Given the description of an element on the screen output the (x, y) to click on. 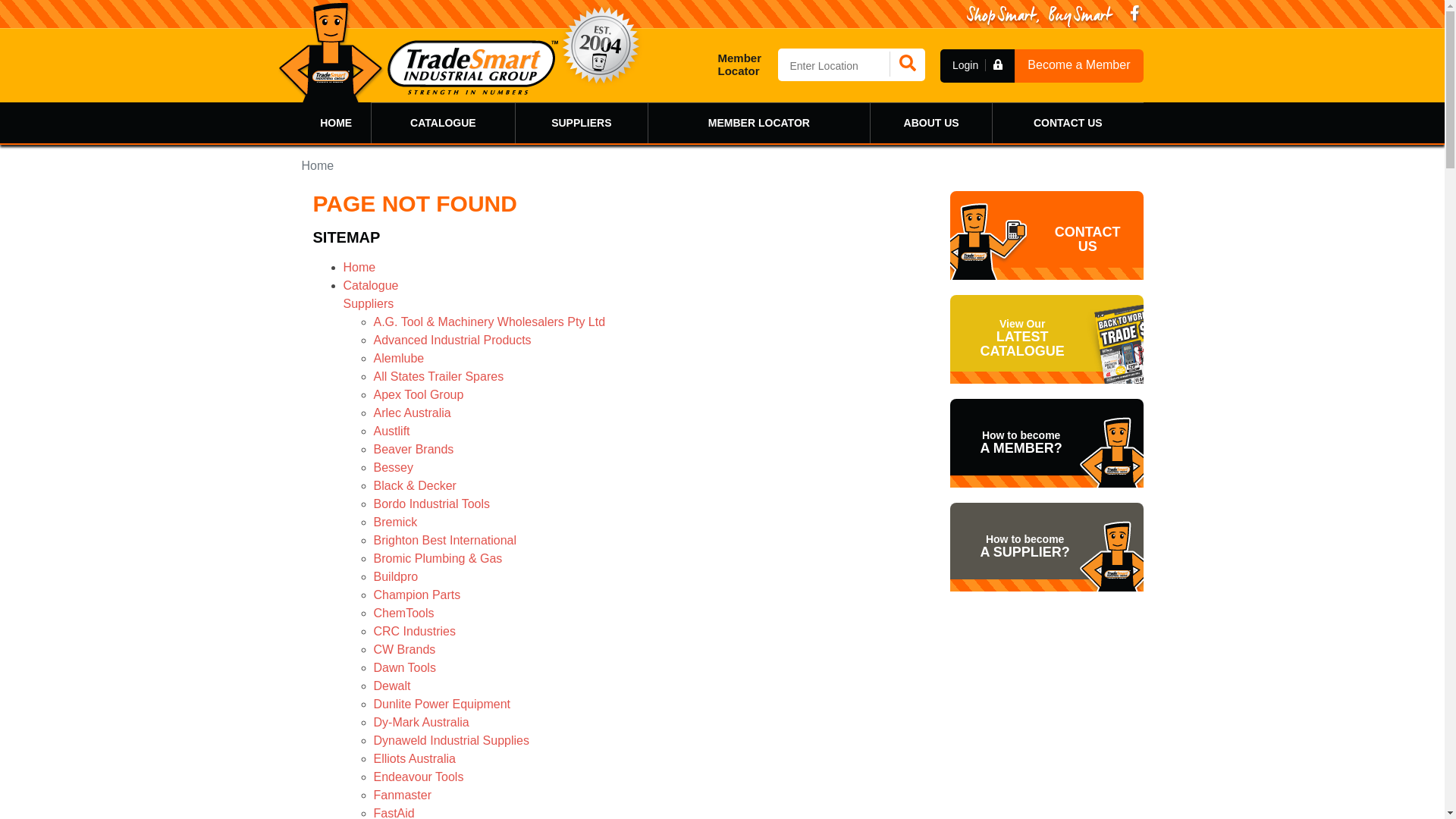
Black & Decker Element type: text (414, 485)
Bordo Industrial Tools Element type: text (431, 503)
Apex Tool Group Element type: text (418, 394)
CONTACT
US Element type: text (1045, 235)
View Our
LATEST
CATALOGUE Element type: text (1045, 338)
MEMBER LOCATOR Element type: text (758, 123)
Elliots Australia Element type: text (414, 758)
Become a Member Element type: text (1078, 64)
Dynaweld Industrial Supplies Element type: text (450, 740)
Suppliers Element type: text (367, 303)
TradeSmart Industrial Group - Strength in Numbers Element type: text (417, 52)
Bessey Element type: text (392, 467)
Dawn Tools Element type: text (404, 667)
Buildpro Element type: text (395, 576)
A.G. Tool & Machinery Wholesalers Pty Ltd Element type: text (489, 321)
Brighton Best International Element type: text (444, 539)
Bromic Plumbing & Gas Element type: text (437, 558)
Advanced Industrial Products Element type: text (451, 339)
How to become
A MEMBER? Element type: text (1045, 442)
ABOUT US Element type: text (930, 123)
Beaver Brands Element type: text (413, 448)
How to become
A SUPPLIER? Element type: text (1045, 546)
Login Element type: text (977, 64)
Austlift Element type: text (391, 430)
Endeavour Tools Element type: text (418, 776)
Dewalt Element type: text (391, 685)
CW Brands Element type: text (404, 649)
Bremick Element type: text (395, 521)
ChemTools Element type: text (403, 612)
CATALOGUE Element type: text (442, 123)
Fanmaster Element type: text (401, 794)
Catalogue Element type: text (370, 285)
HOME Element type: text (335, 123)
Home Element type: text (358, 266)
SUPPLIERS Element type: text (581, 123)
Champion Parts Element type: text (416, 594)
All States Trailer Spares Element type: text (438, 376)
Alemlube Element type: text (398, 357)
Dy-Mark Australia Element type: text (420, 721)
CONTACT US Element type: text (1067, 123)
Home Element type: text (317, 165)
Dunlite Power Equipment Element type: text (441, 703)
Arlec Australia Element type: text (411, 412)
CRC Industries Element type: text (414, 630)
